Given the description of an element on the screen output the (x, y) to click on. 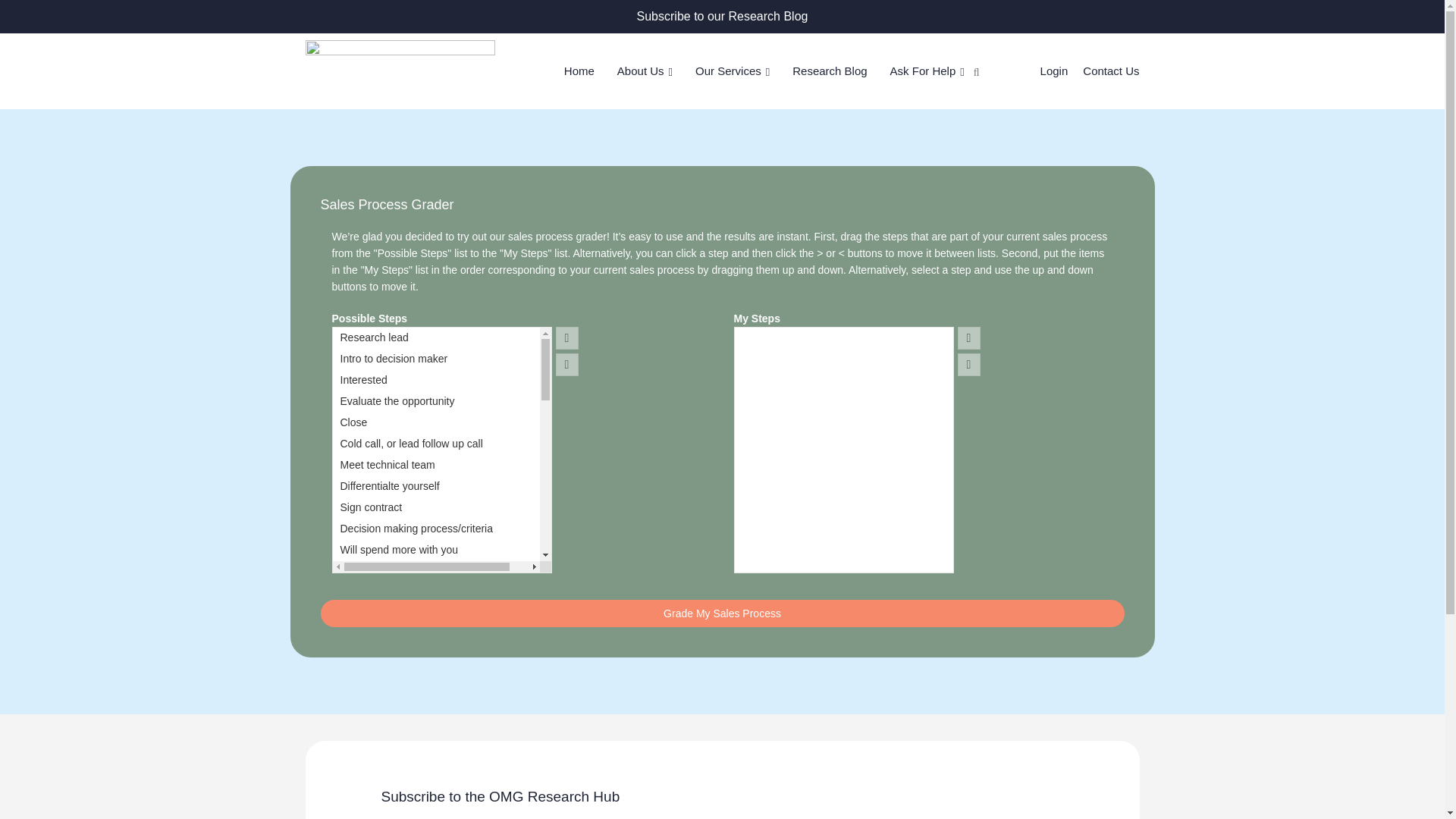
Login (1054, 70)
Move Down (968, 363)
Ask For Help (926, 70)
Our Services (732, 70)
Subscribe to our Research Blog (722, 15)
Contact Us (1110, 70)
Grade My Sales Process (722, 613)
Move Up (968, 337)
Research Blog (829, 70)
To Right (567, 337)
To Left (567, 363)
